Given the description of an element on the screen output the (x, y) to click on. 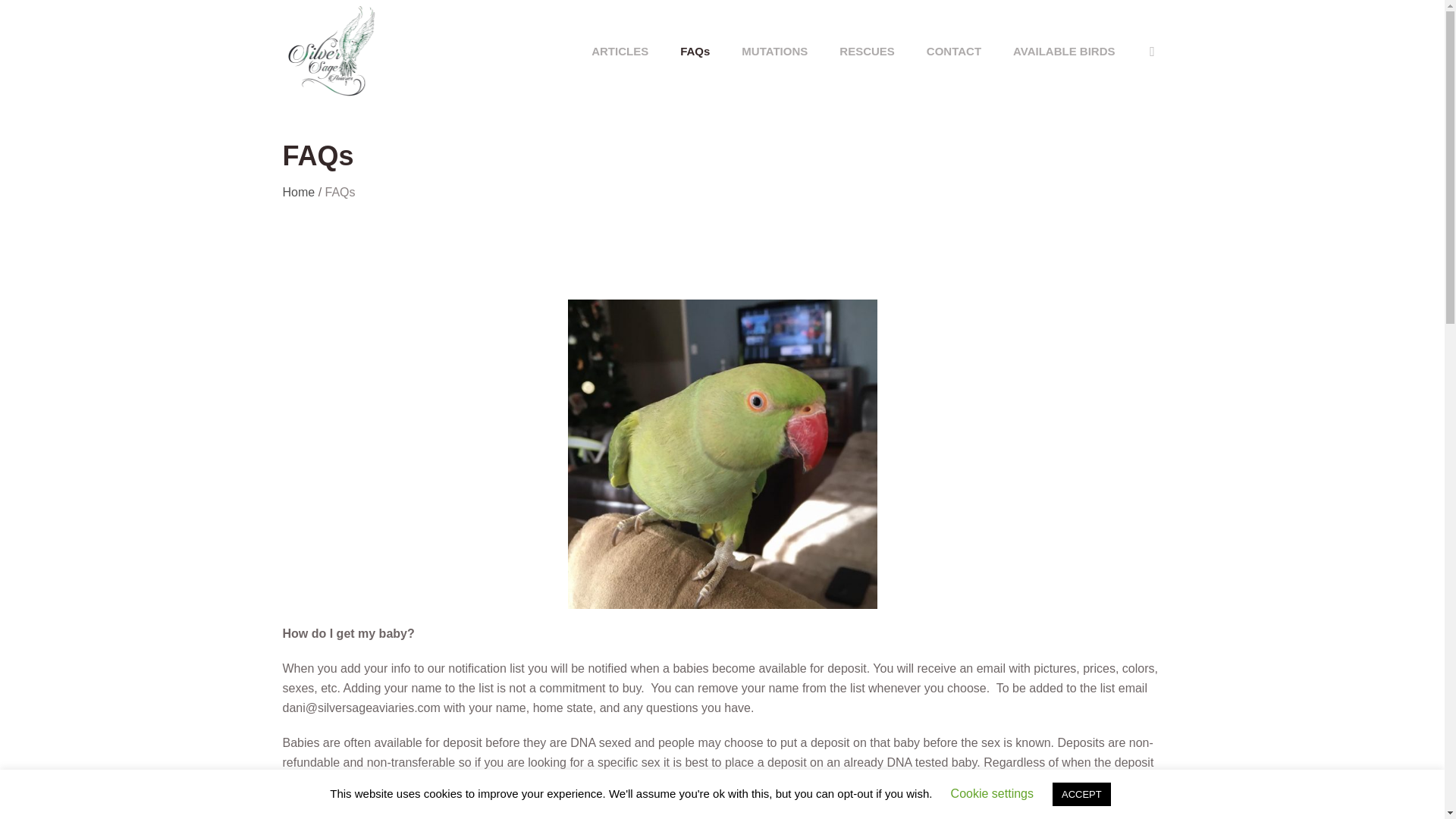
ARTICLES (619, 50)
MUTATIONS (774, 50)
ACCEPT (1081, 793)
CONTACT (954, 50)
FAQs (694, 50)
RESCUES (867, 50)
AVAILABLE BIRDS (1064, 50)
Cookie settings (991, 793)
Home (298, 191)
